Given the description of an element on the screen output the (x, y) to click on. 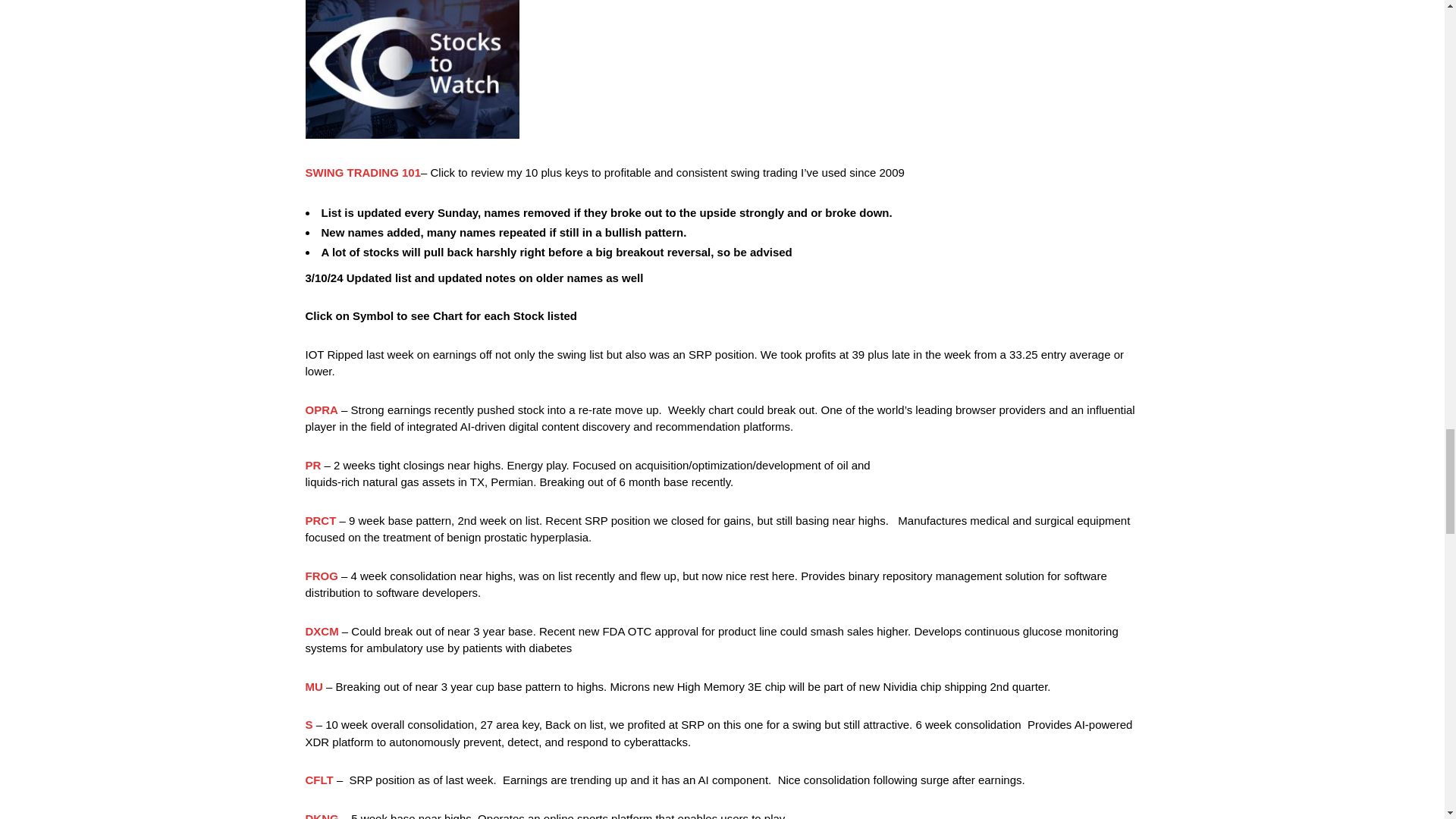
PRCT (320, 520)
OPRA (320, 409)
CFLT (318, 779)
SWING TRADING 101 (362, 172)
S (308, 724)
MU (312, 686)
PR  (313, 464)
DXCM (320, 631)
FROG  (322, 575)
